Given the description of an element on the screen output the (x, y) to click on. 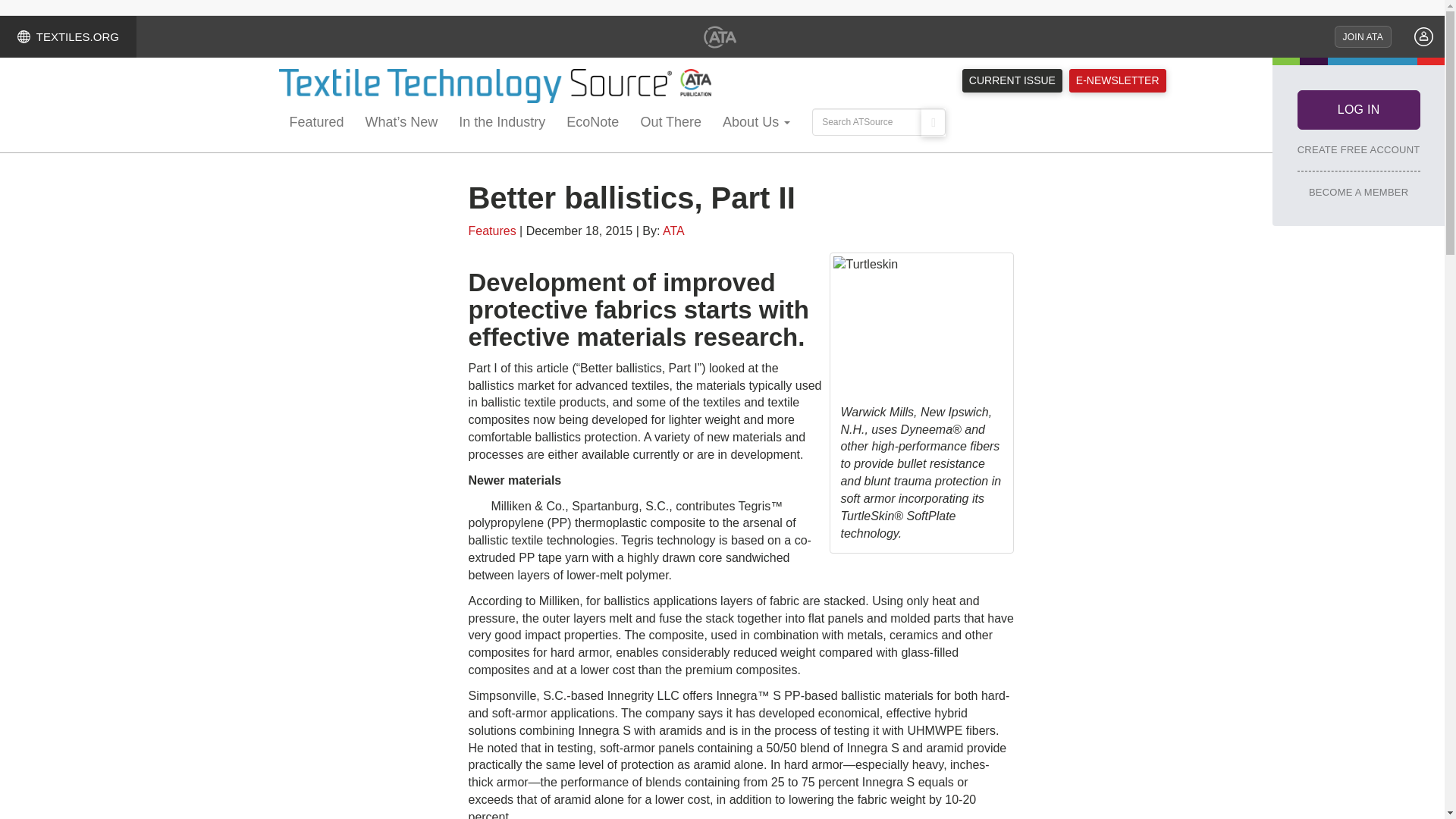
Out There (669, 123)
E-NEWSLETTER (1117, 80)
CURRENT ISSUE (1012, 80)
CREATE FREE ACCOUNT (1359, 149)
TEXTILES.ORG (68, 36)
In the Industry (502, 123)
Posts by ATA (673, 230)
About Us (755, 123)
JOIN ATA (1363, 36)
BECOME A MEMBER (1357, 192)
